Given the description of an element on the screen output the (x, y) to click on. 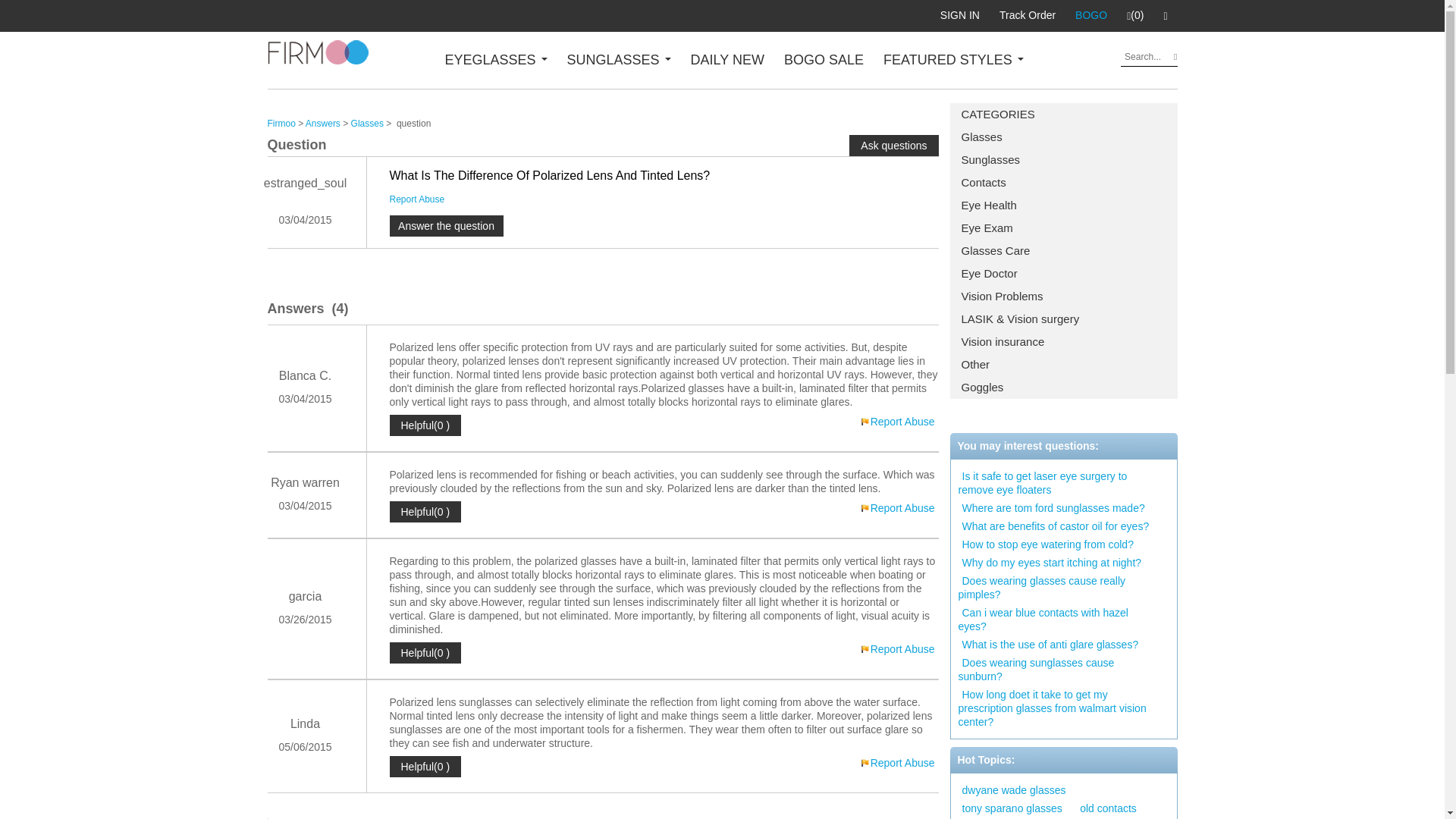
BOGO (1090, 15)
Track Order (1027, 15)
SIGN IN (960, 15)
EYEGLASSES (495, 59)
